Given the description of an element on the screen output the (x, y) to click on. 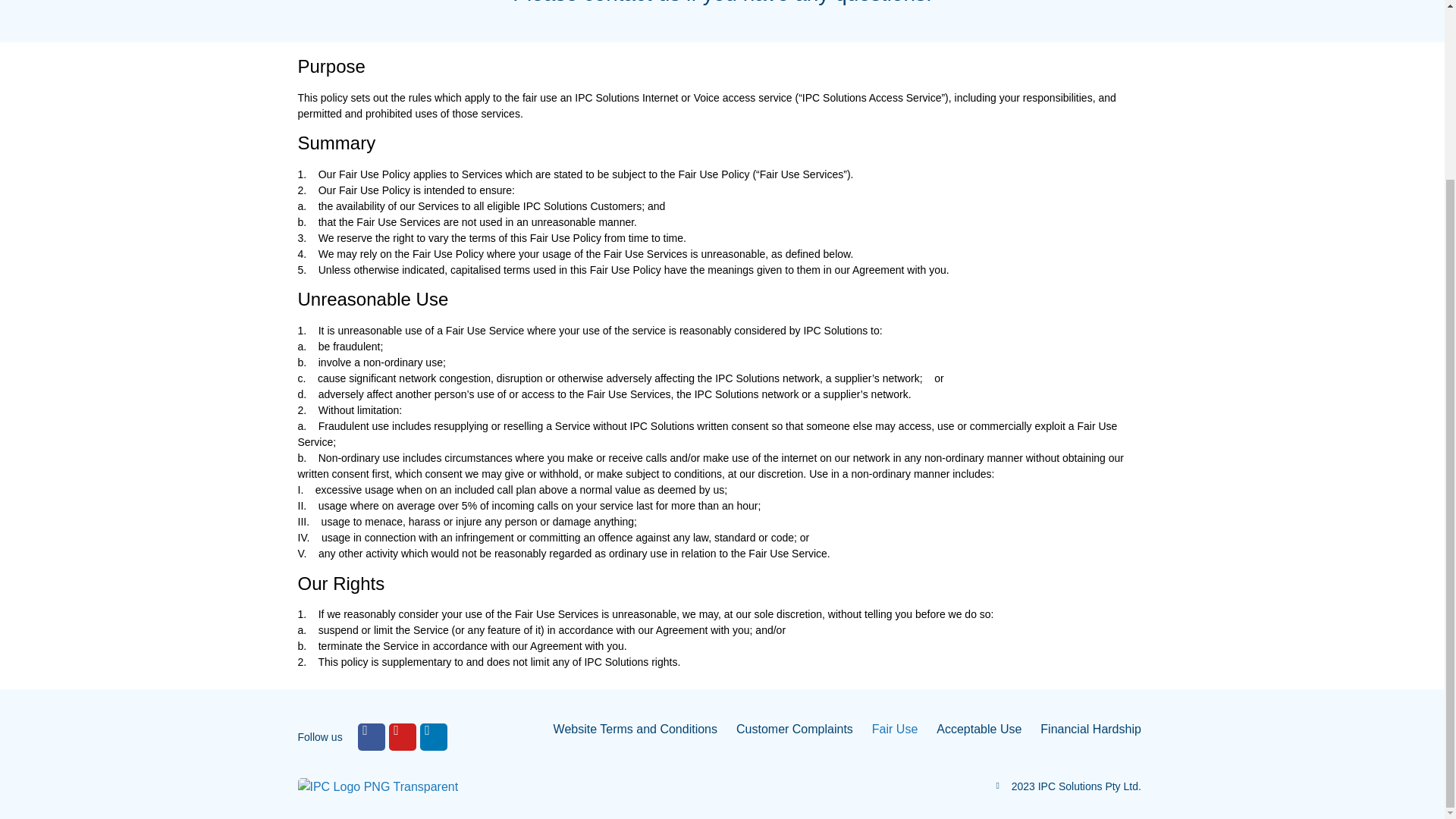
IPC Logo PNG Transparent (377, 787)
